Given the description of an element on the screen output the (x, y) to click on. 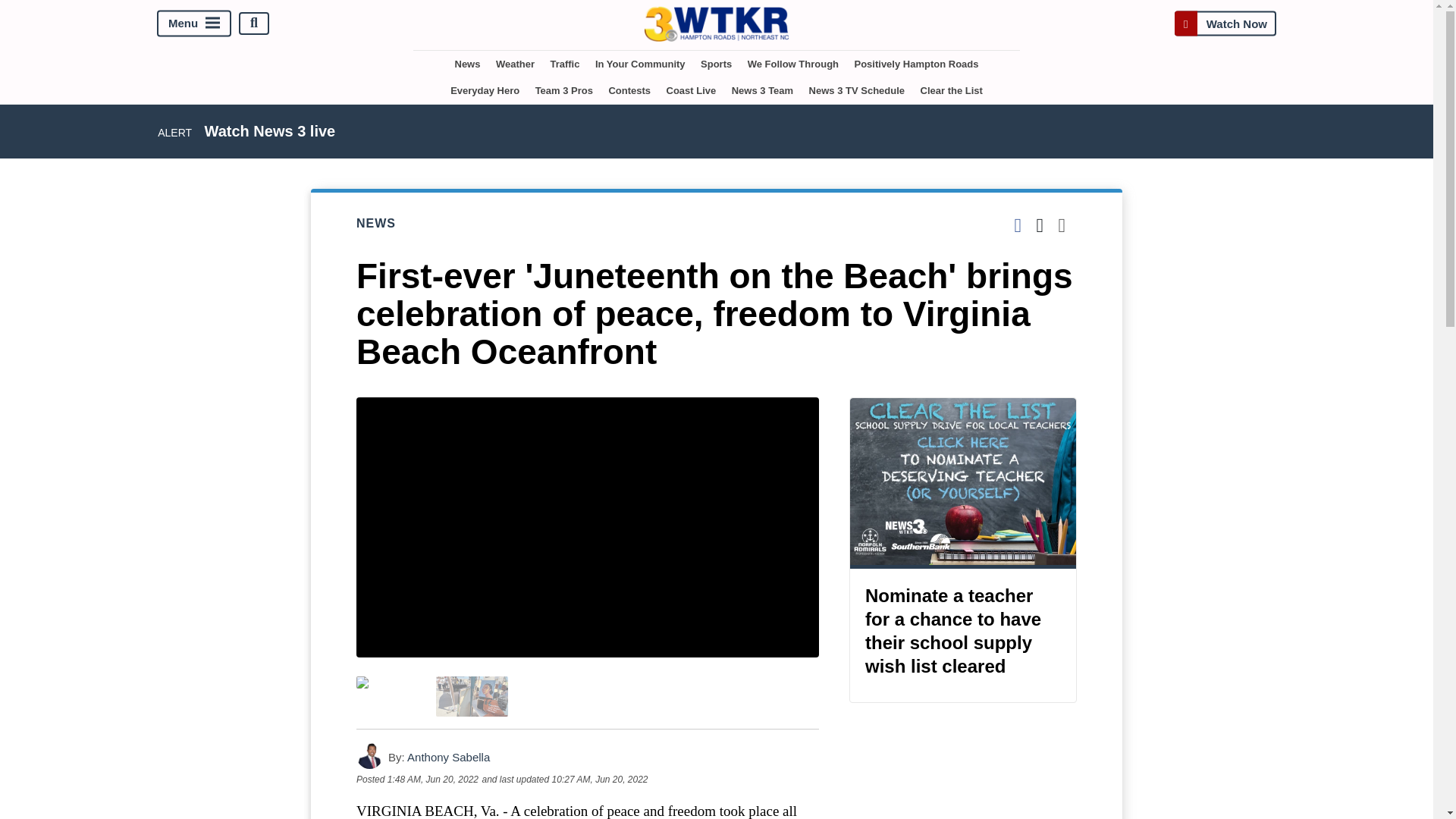
Menu (194, 22)
Watch Now (1224, 22)
